Given the description of an element on the screen output the (x, y) to click on. 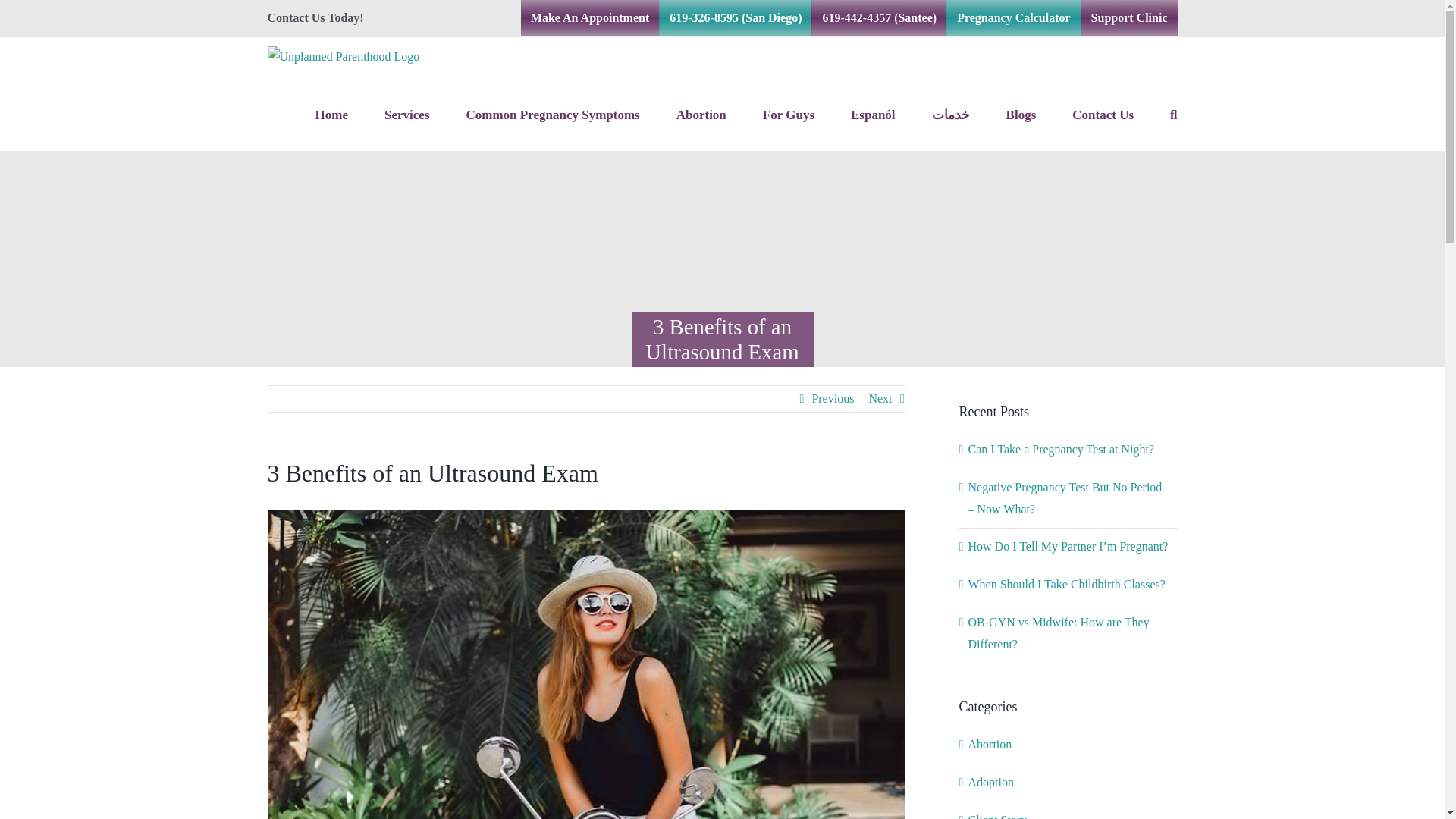
mdi-tablet (552, 112)
support-clinic (1129, 18)
make-an-appointment (590, 18)
Make An Appointment (590, 18)
Common Pregnancy Symptoms (552, 112)
Next (879, 398)
Support Clinic (1129, 18)
Previous (831, 398)
Pregnancy Calculator (1013, 18)
